Given the description of an element on the screen output the (x, y) to click on. 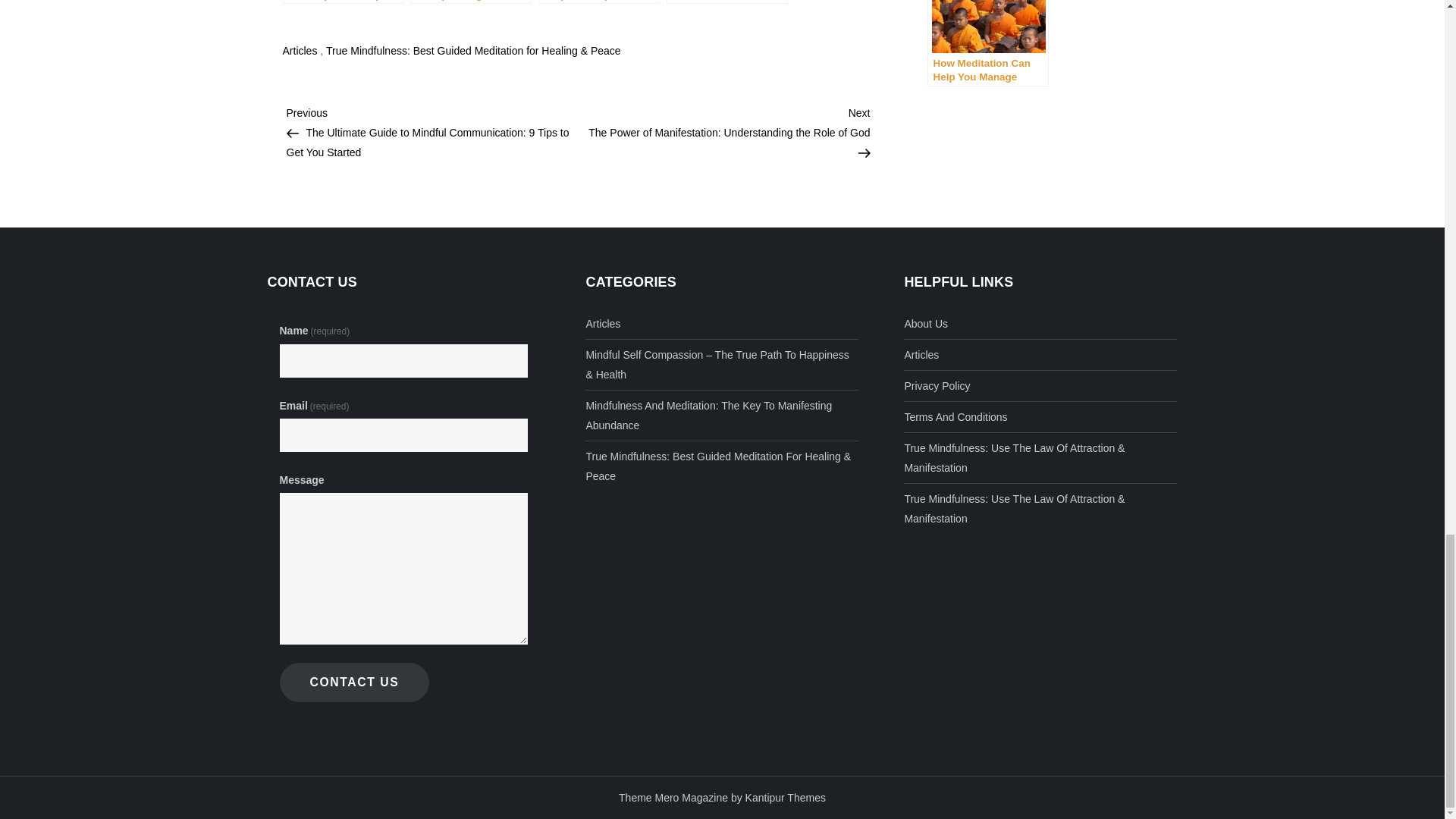
How Meditation Can Help You Cope with Anxiety and Depression (598, 2)
About Us (925, 323)
CONTACT US (354, 681)
Mindfulness And Meditation: The Key To Manifesting Abundance (722, 414)
How Meditation Can Help You Manage Stress and Anxiety (987, 43)
Articles (299, 50)
Articles (602, 323)
